Given the description of an element on the screen output the (x, y) to click on. 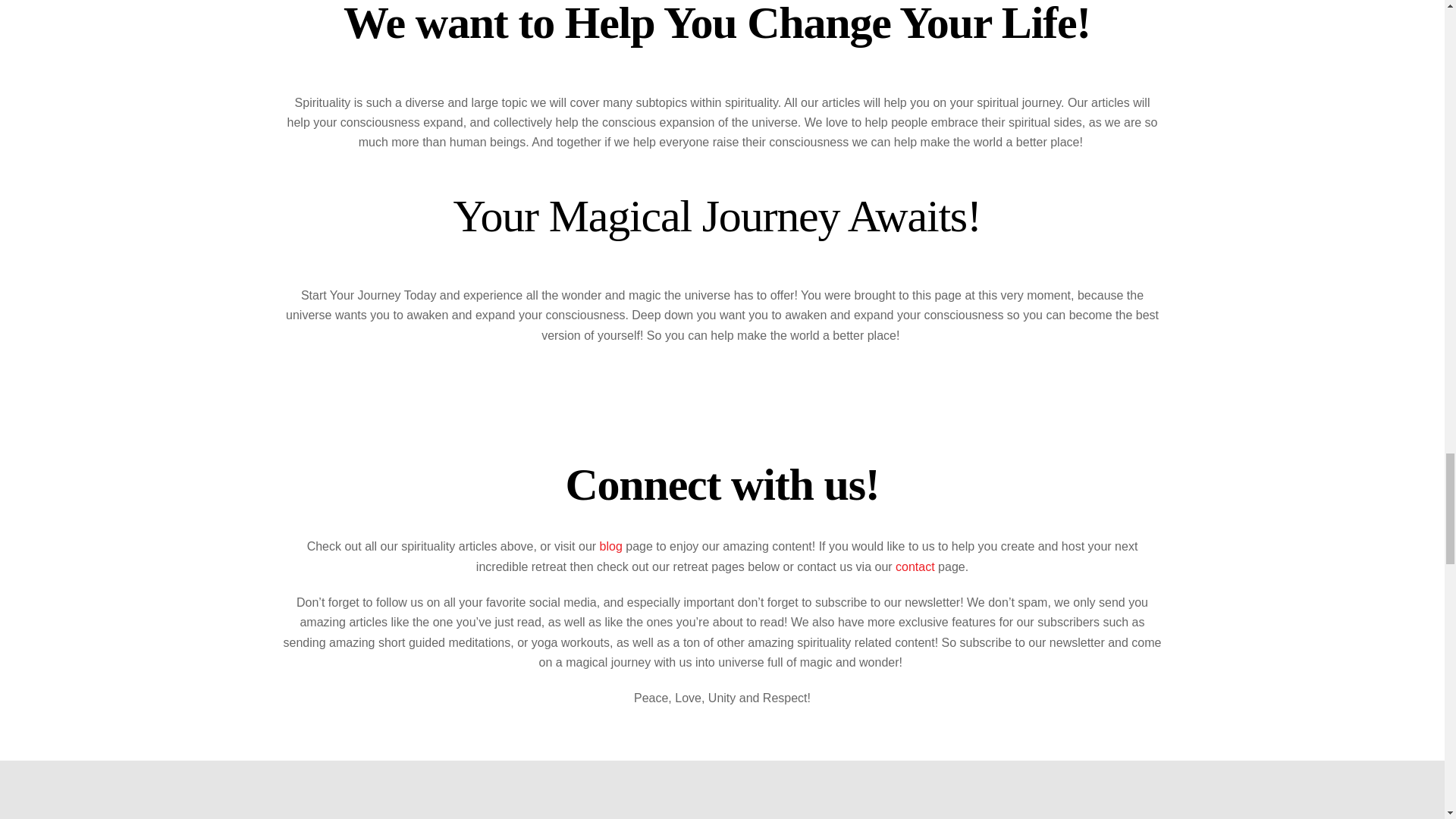
blog (611, 545)
